Given the description of an element on the screen output the (x, y) to click on. 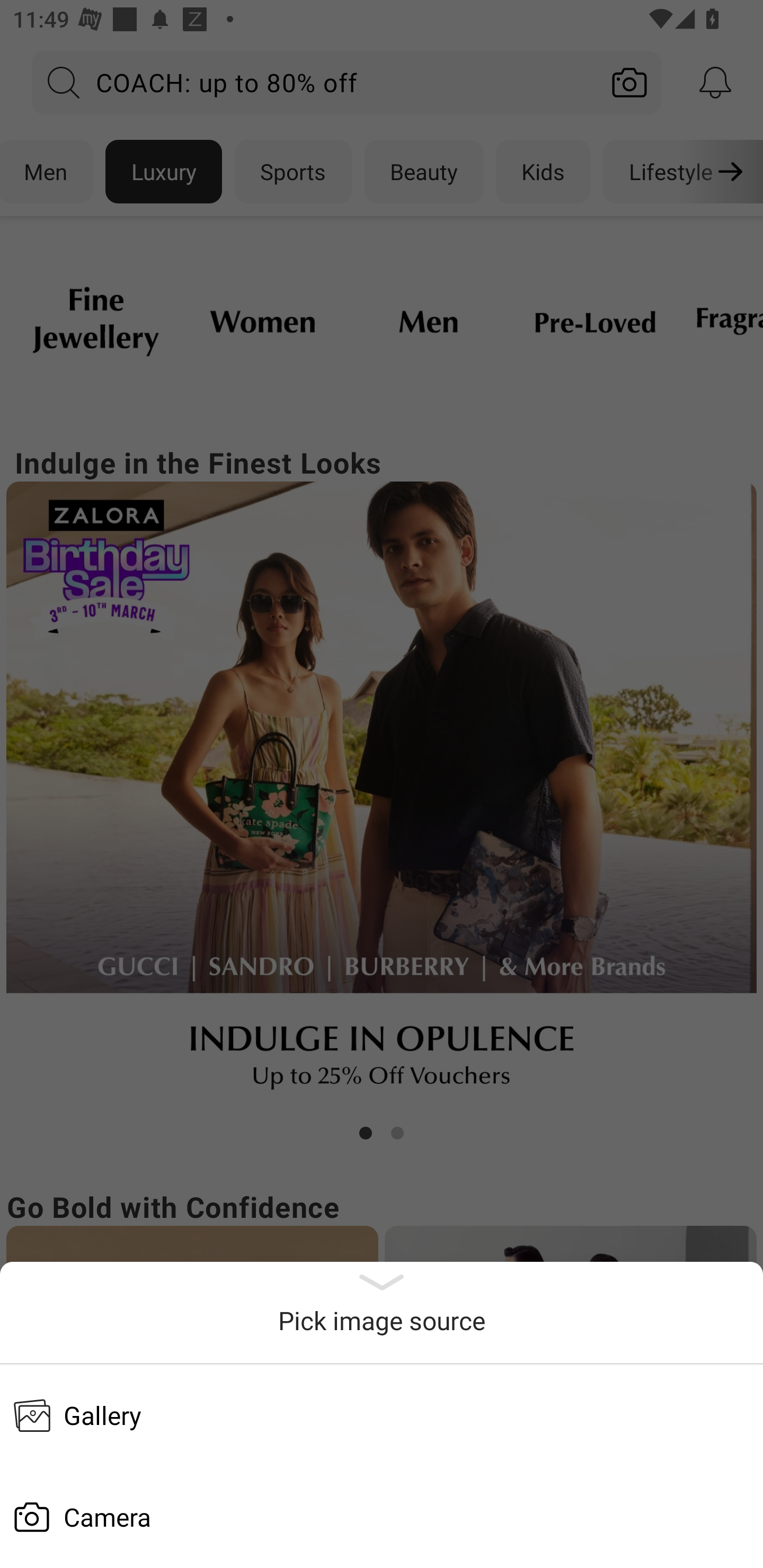
Gallery (381, 1415)
Camera (381, 1517)
